Given the description of an element on the screen output the (x, y) to click on. 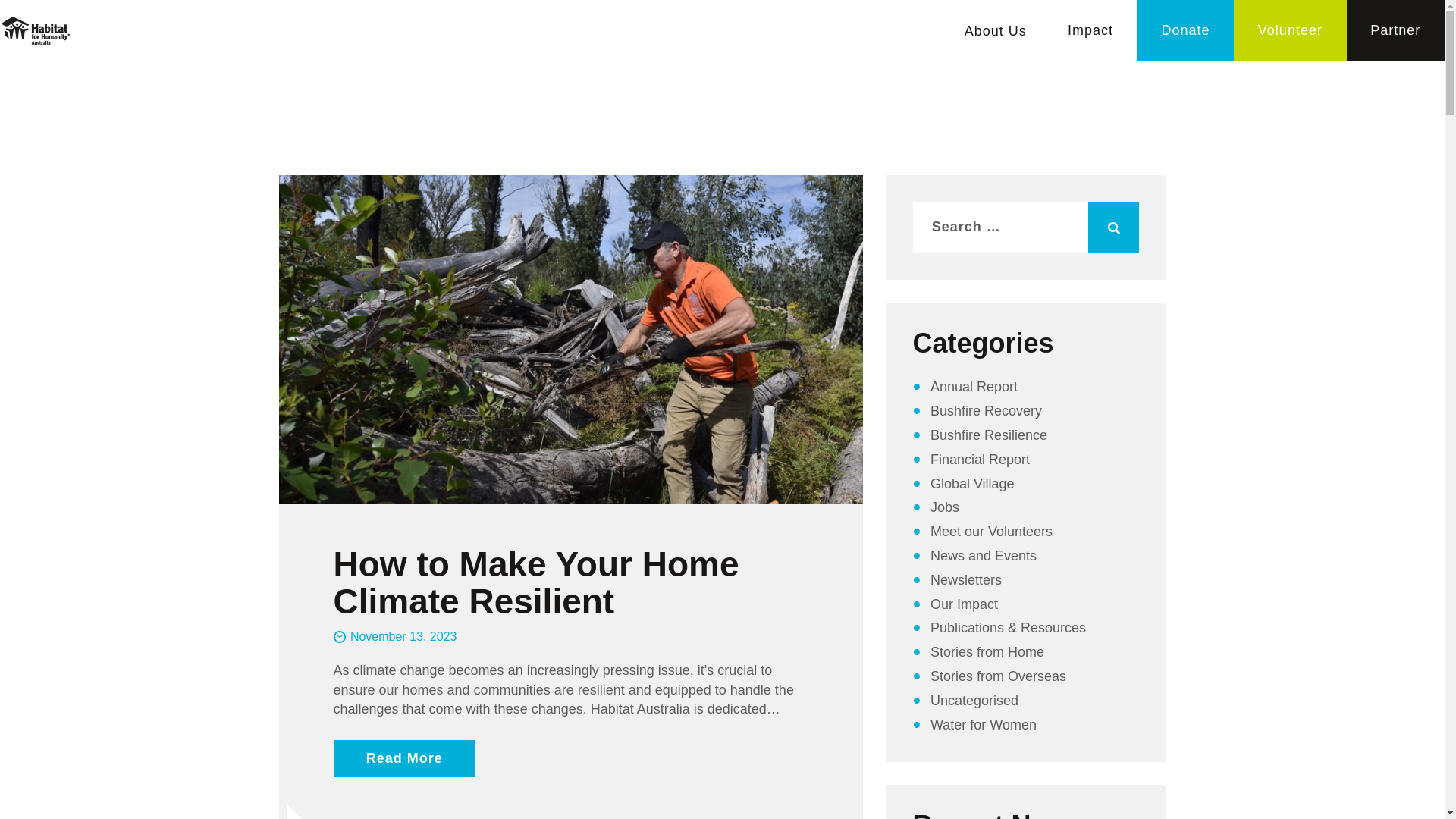
Stories from Home Element type: text (987, 651)
Publications & Resources Element type: text (1007, 627)
November 13, 2023 Element type: text (395, 636)
Partner Element type: text (1395, 30)
Global Village Element type: text (972, 483)
News and Events Element type: text (983, 555)
About Us Element type: text (995, 31)
Financial Report Element type: text (979, 459)
How to Make Your Home Climate Resilient   Element type: text (570, 582)
Bushfire Recovery Element type: text (985, 410)
Uncategorised Element type: text (974, 700)
Read More Element type: text (404, 758)
Jobs Element type: text (944, 506)
Meet our Volunteers Element type: text (991, 531)
Water for Women Element type: text (983, 724)
Bushfire Resilience Element type: text (988, 434)
Impact Element type: text (1089, 30)
Newsletters Element type: text (965, 579)
Stories from Overseas Element type: text (998, 676)
Search Element type: text (1113, 227)
Donate Element type: text (1185, 30)
Our Impact Element type: text (963, 603)
Volunteer Element type: text (1289, 30)
Annual Report Element type: text (973, 386)
